Given the description of an element on the screen output the (x, y) to click on. 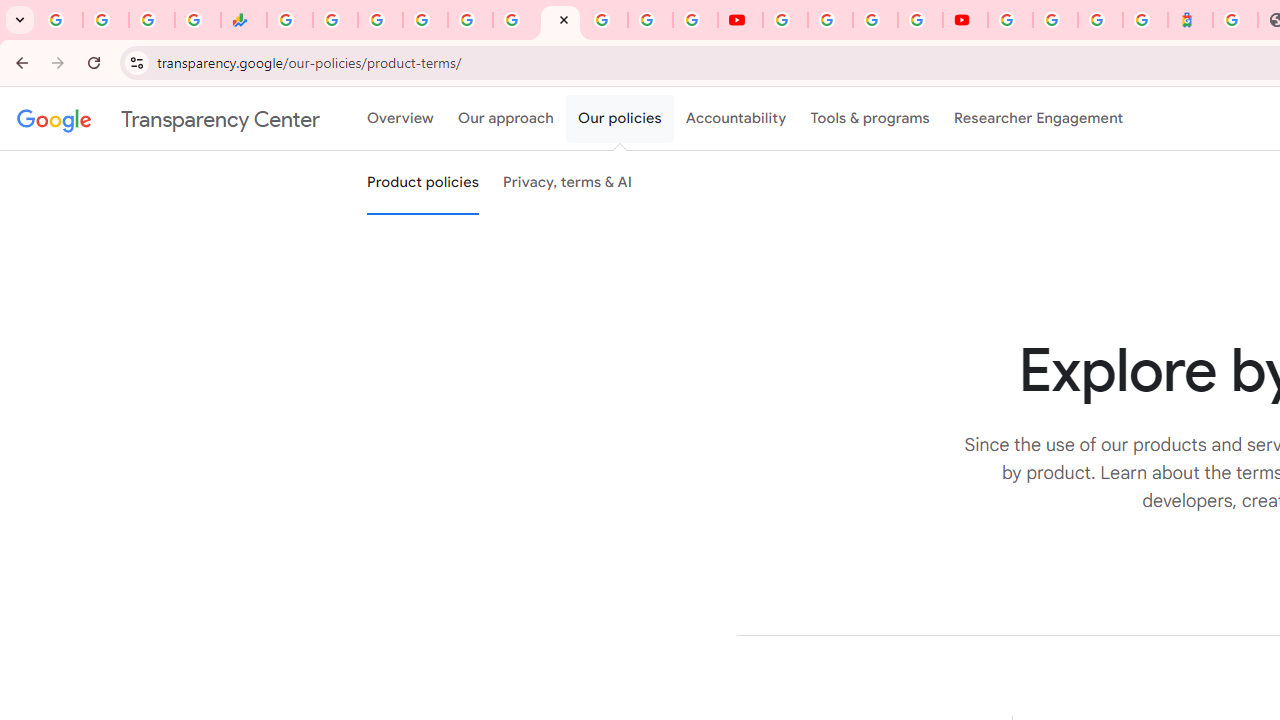
Create your Google Account (875, 20)
Content Creator Programs & Opportunities - YouTube Creators (965, 20)
Sign in - Google Accounts (425, 20)
Researcher Engagement (1038, 119)
Transparency Center (167, 119)
